Given the description of an element on the screen output the (x, y) to click on. 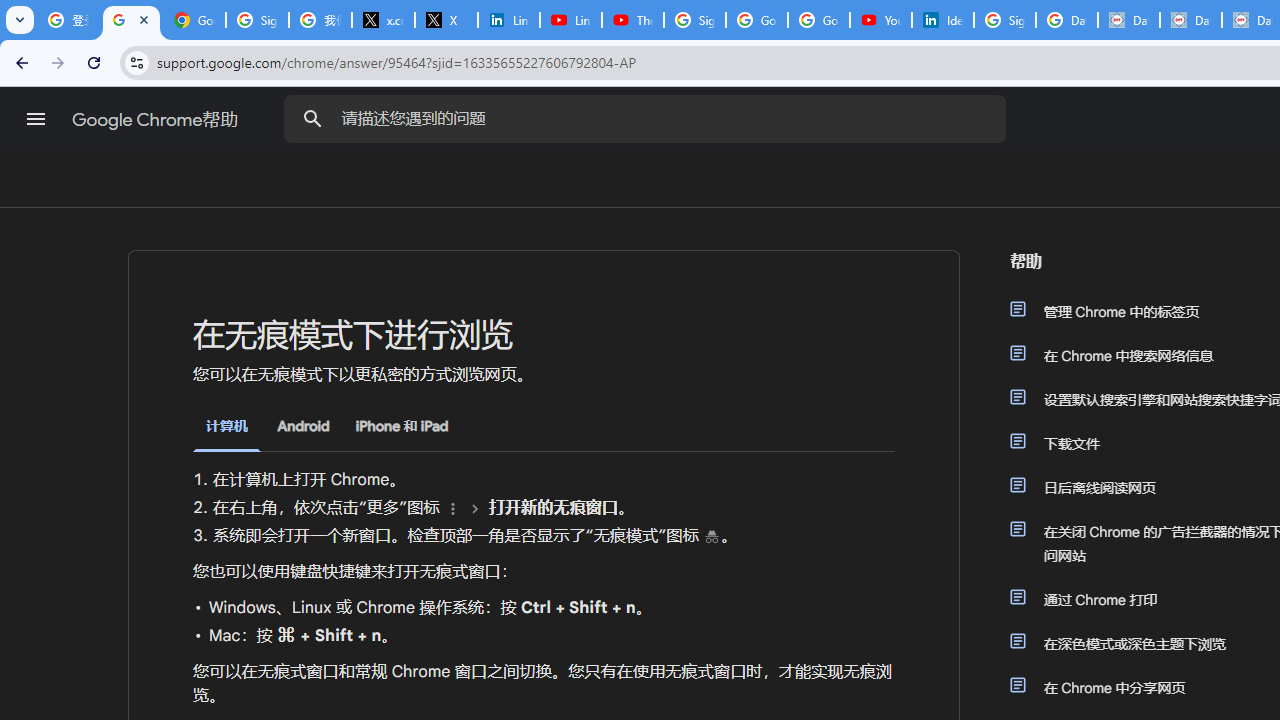
LinkedIn - YouTube (570, 20)
Sign in - Google Accounts (257, 20)
X (445, 20)
